Given the description of an element on the screen output the (x, y) to click on. 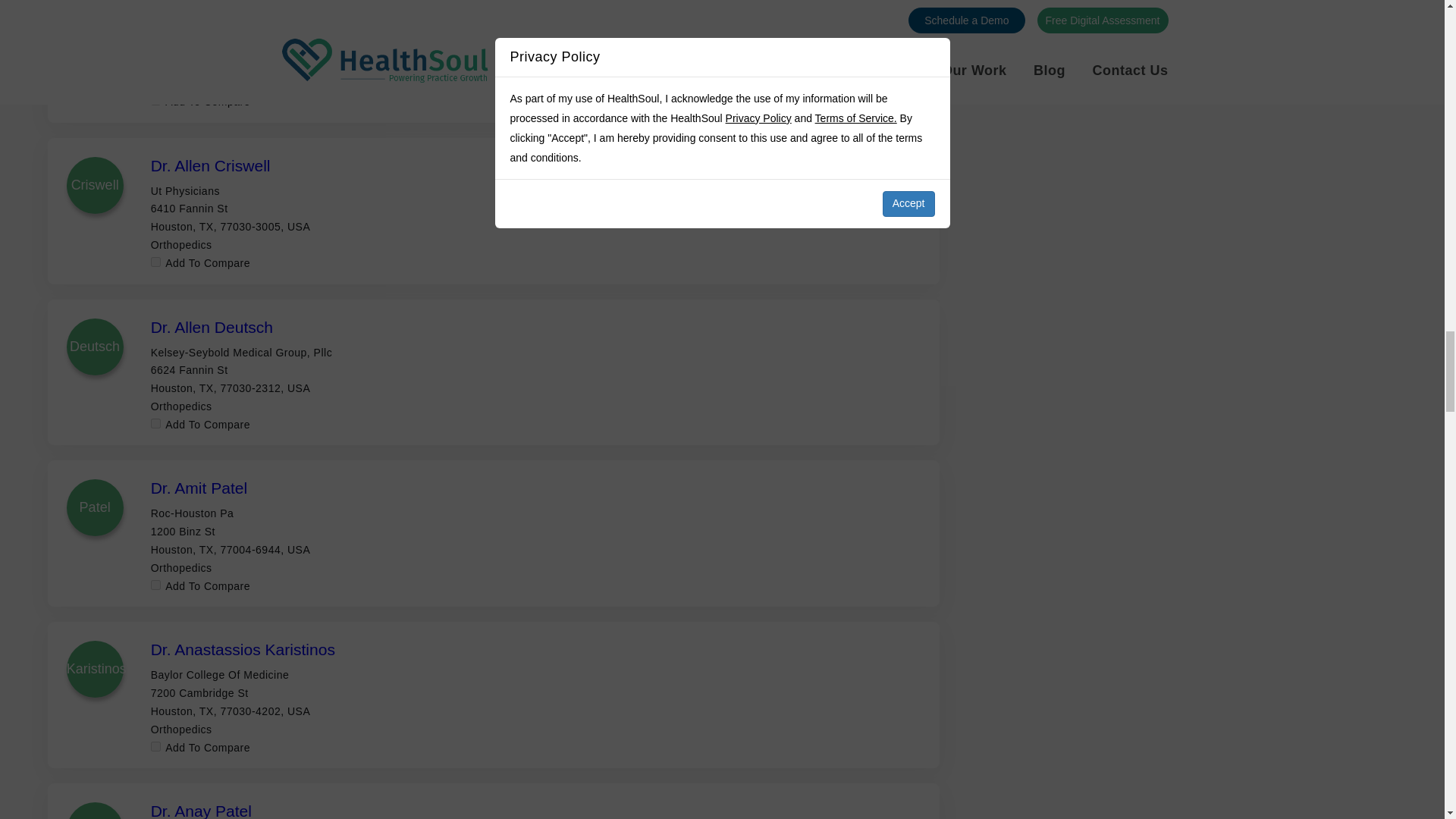
617793 (155, 100)
1083467 (155, 423)
628205 (155, 261)
